Given the description of an element on the screen output the (x, y) to click on. 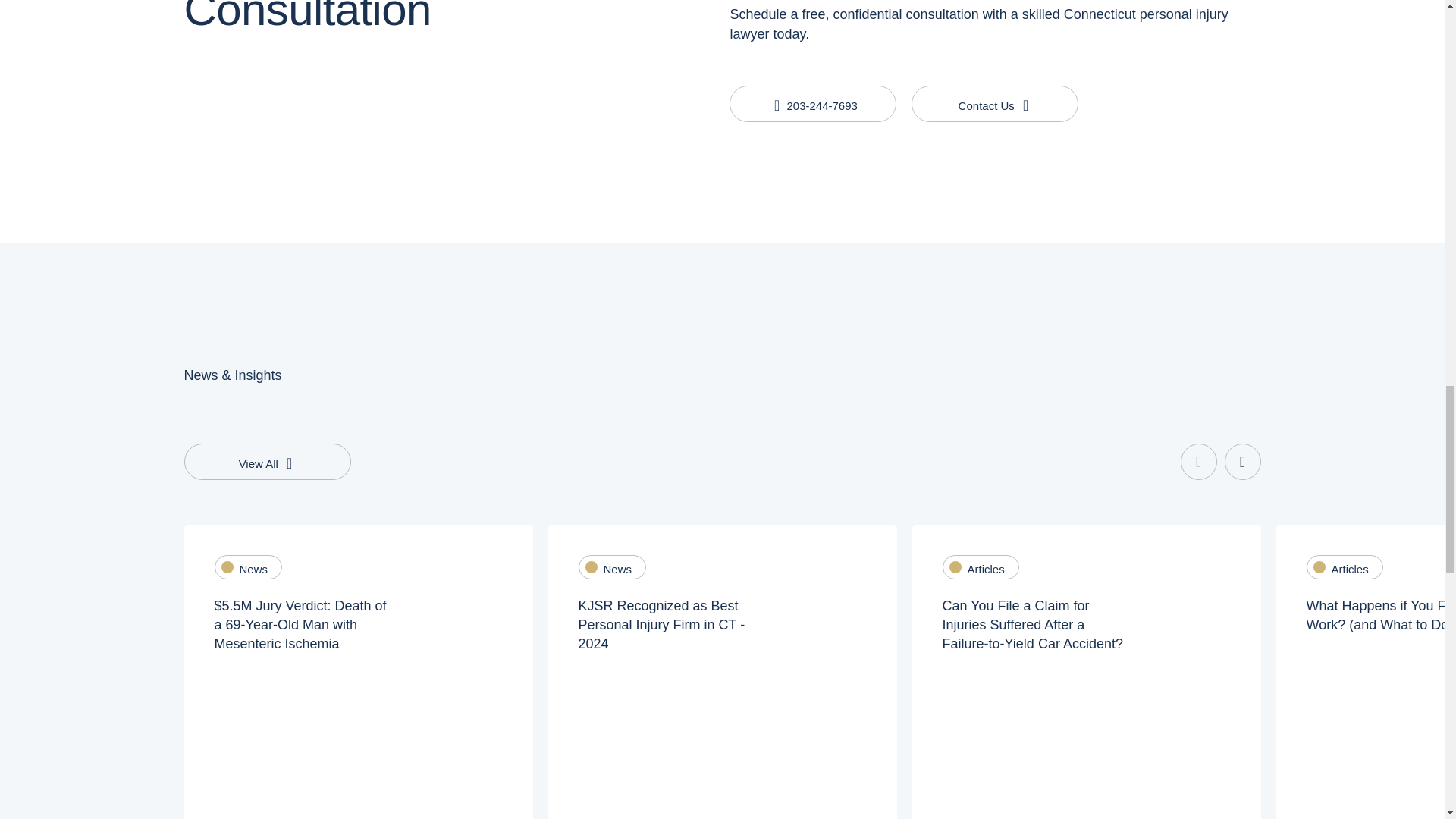
203-244-7693 (812, 103)
Contact Us (994, 103)
View All (266, 461)
